Given the description of an element on the screen output the (x, y) to click on. 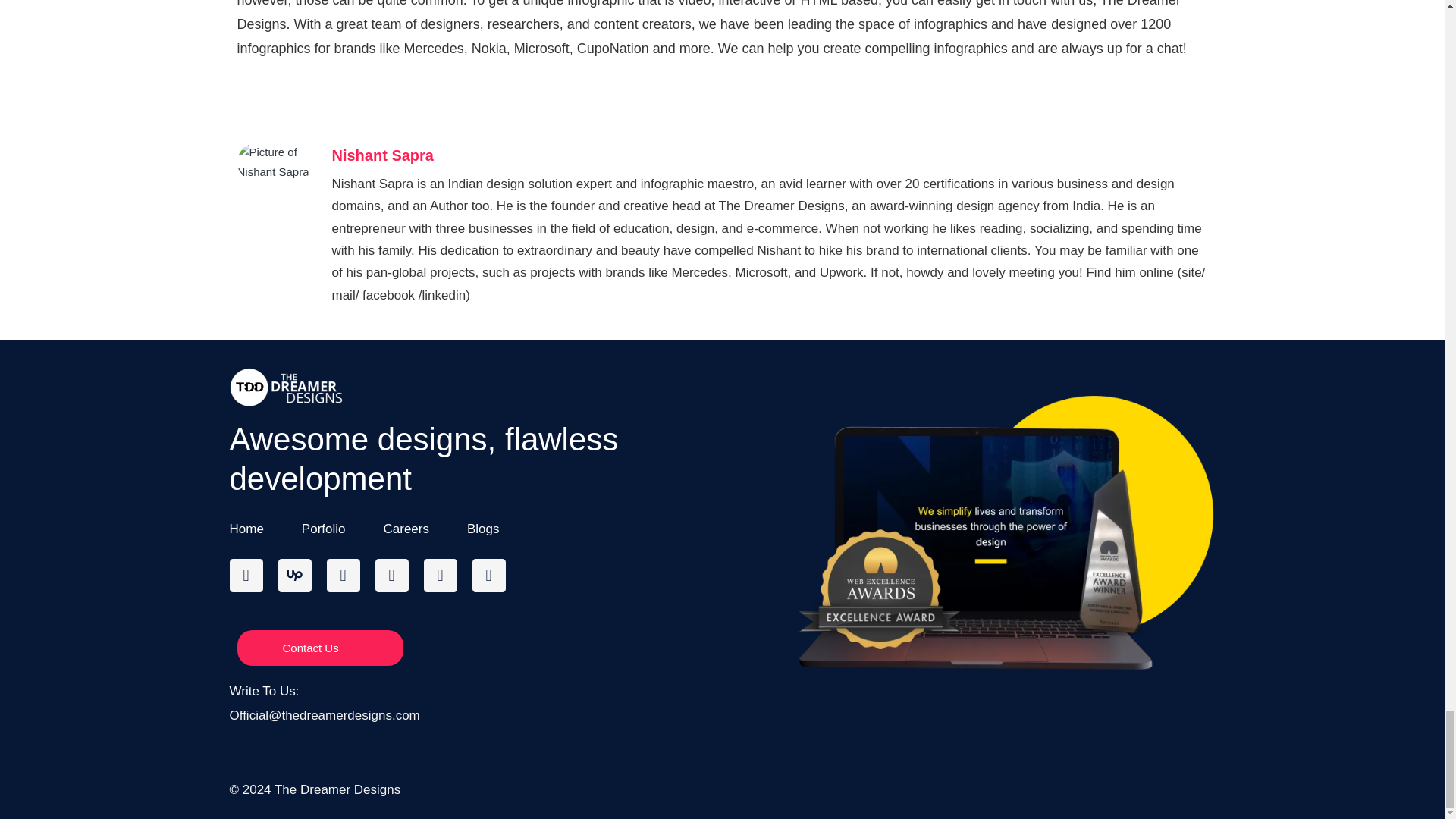
Porfolio (323, 528)
 get in touch (1009, 3)
Careers (406, 528)
Home (245, 528)
Blogs (483, 528)
